Given the description of an element on the screen output the (x, y) to click on. 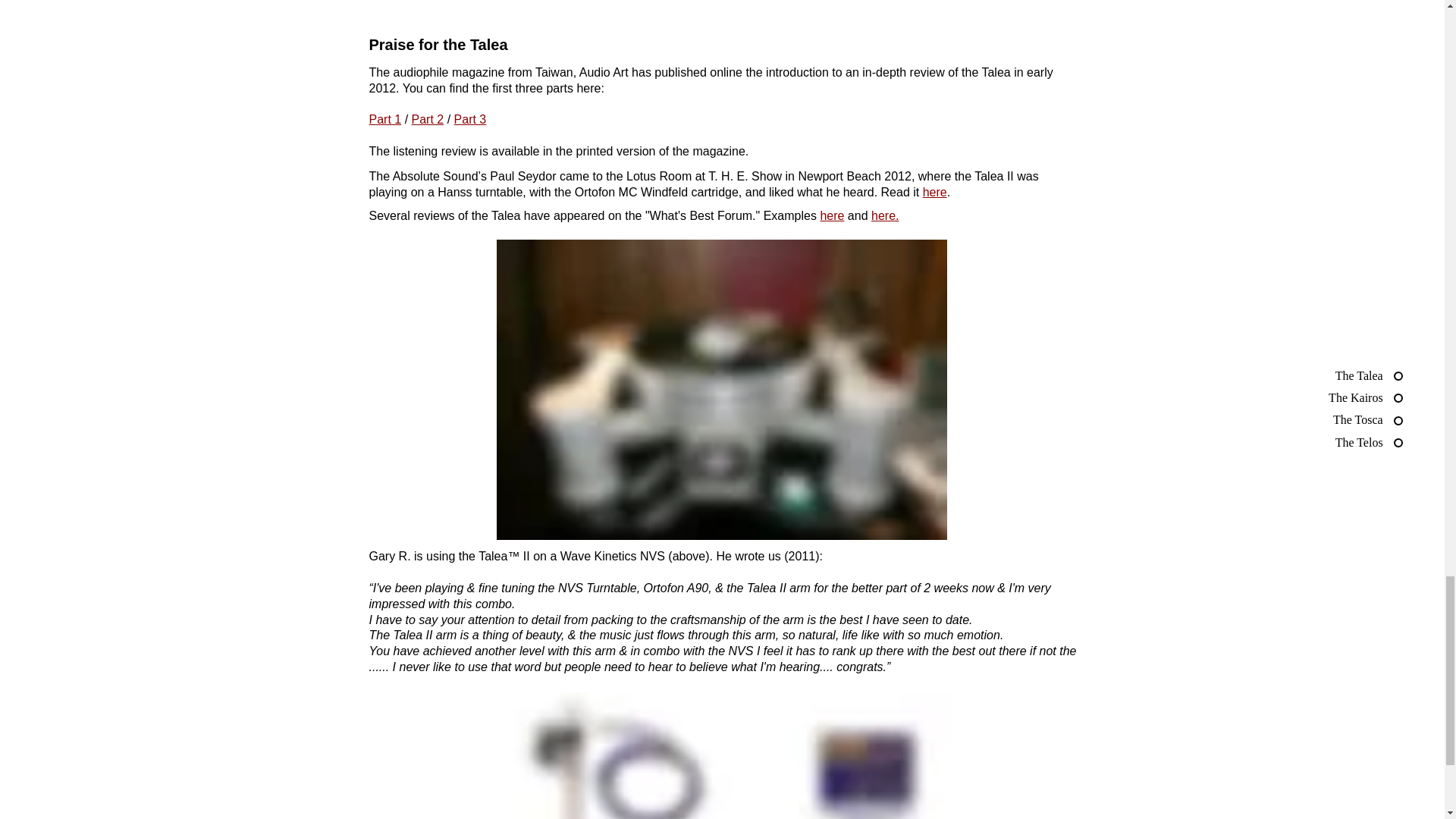
Part 2 (428, 119)
here (935, 192)
here. (884, 215)
here (831, 215)
Part 1 (384, 119)
Part 3 (470, 119)
